Given the description of an element on the screen output the (x, y) to click on. 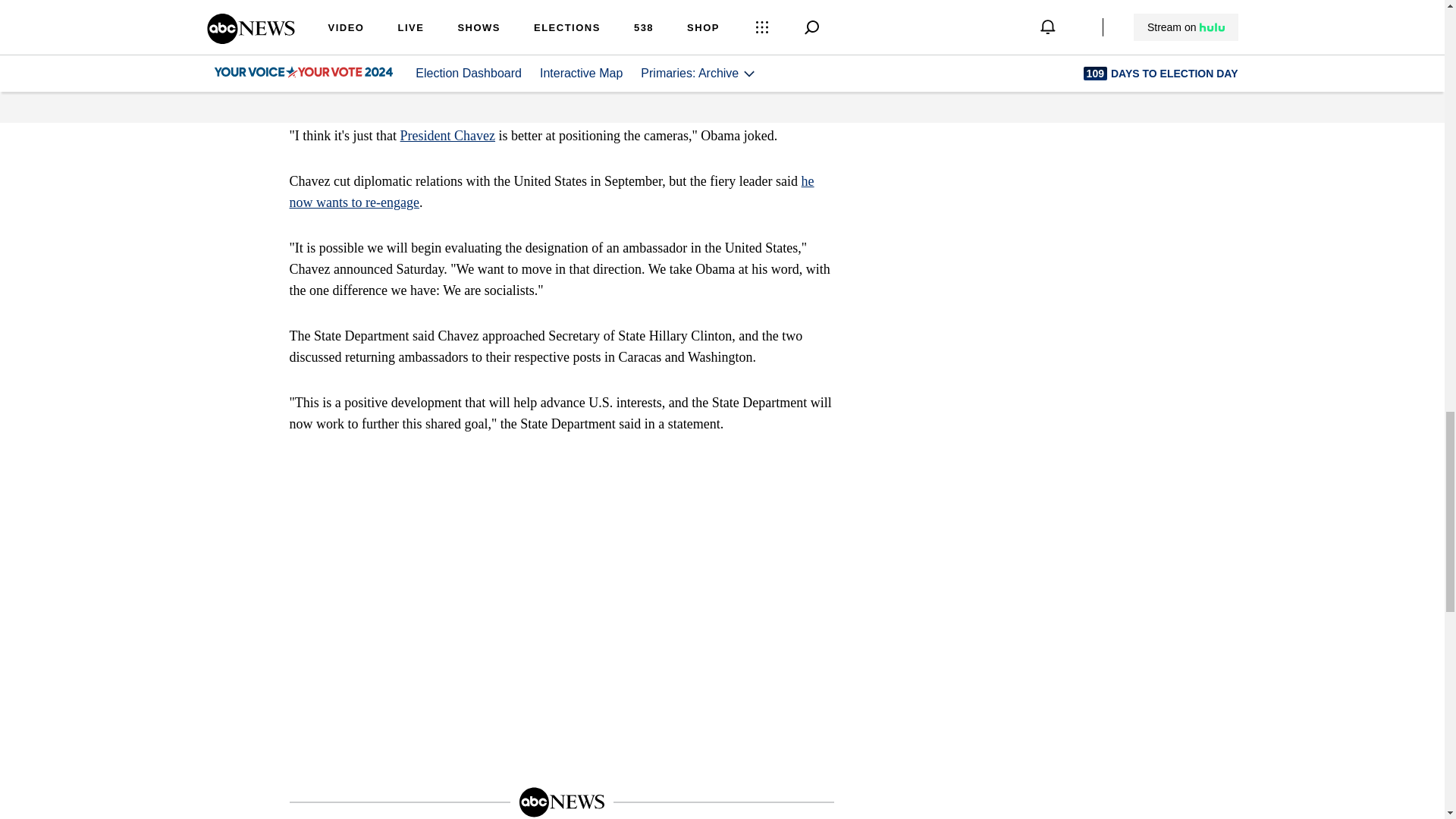
he now wants to re-engage (551, 191)
President Chavez (447, 135)
